Given the description of an element on the screen output the (x, y) to click on. 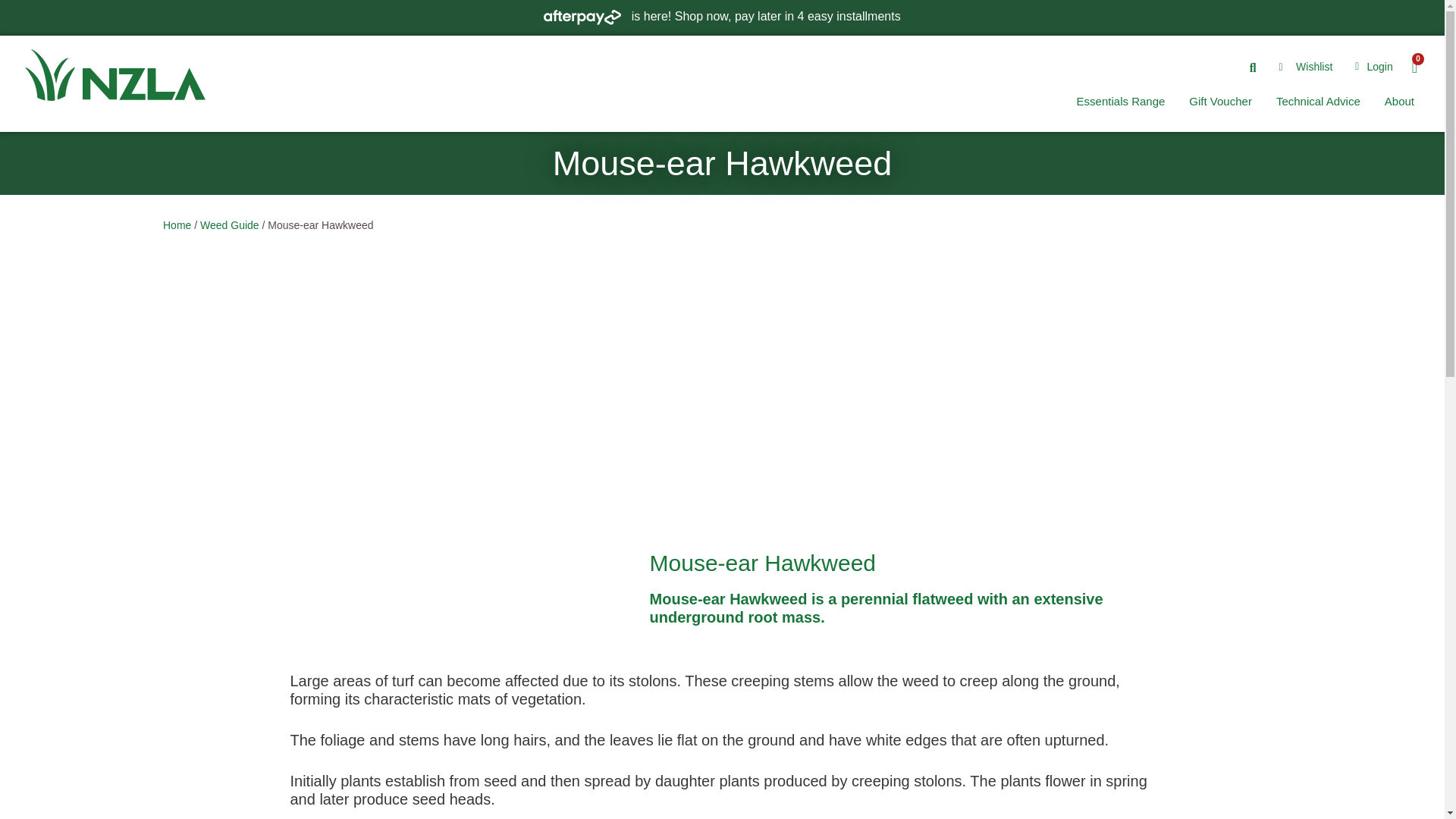
Gift Voucher (1220, 101)
About (1398, 101)
Essentials Range (1121, 101)
Login (1369, 66)
Technical Advice (1317, 101)
Wishlist (1306, 66)
